Given the description of an element on the screen output the (x, y) to click on. 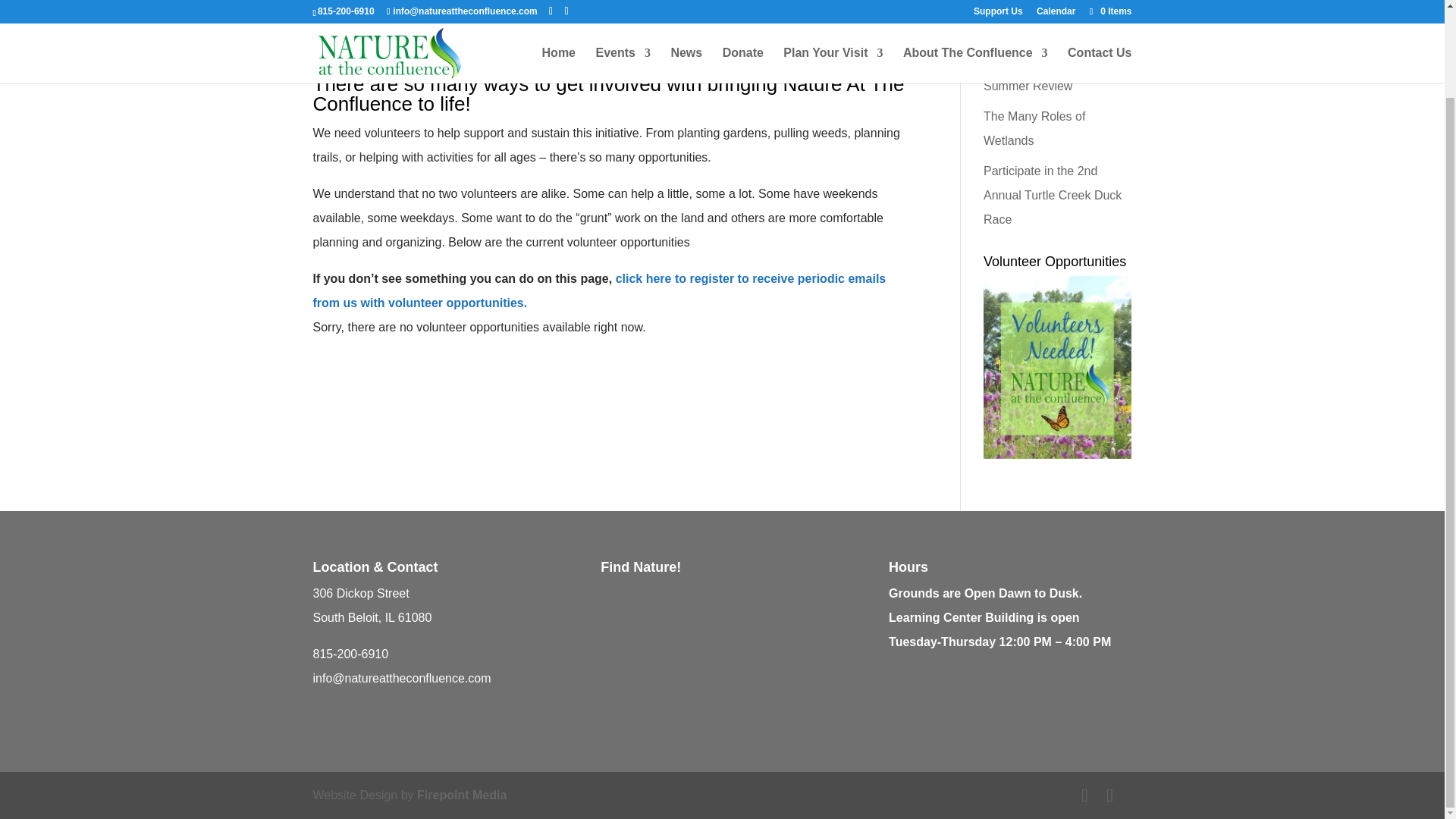
Volunteer Opportunities  (1057, 454)
The Many Roles of Wetlands (1034, 128)
